Given the description of an element on the screen output the (x, y) to click on. 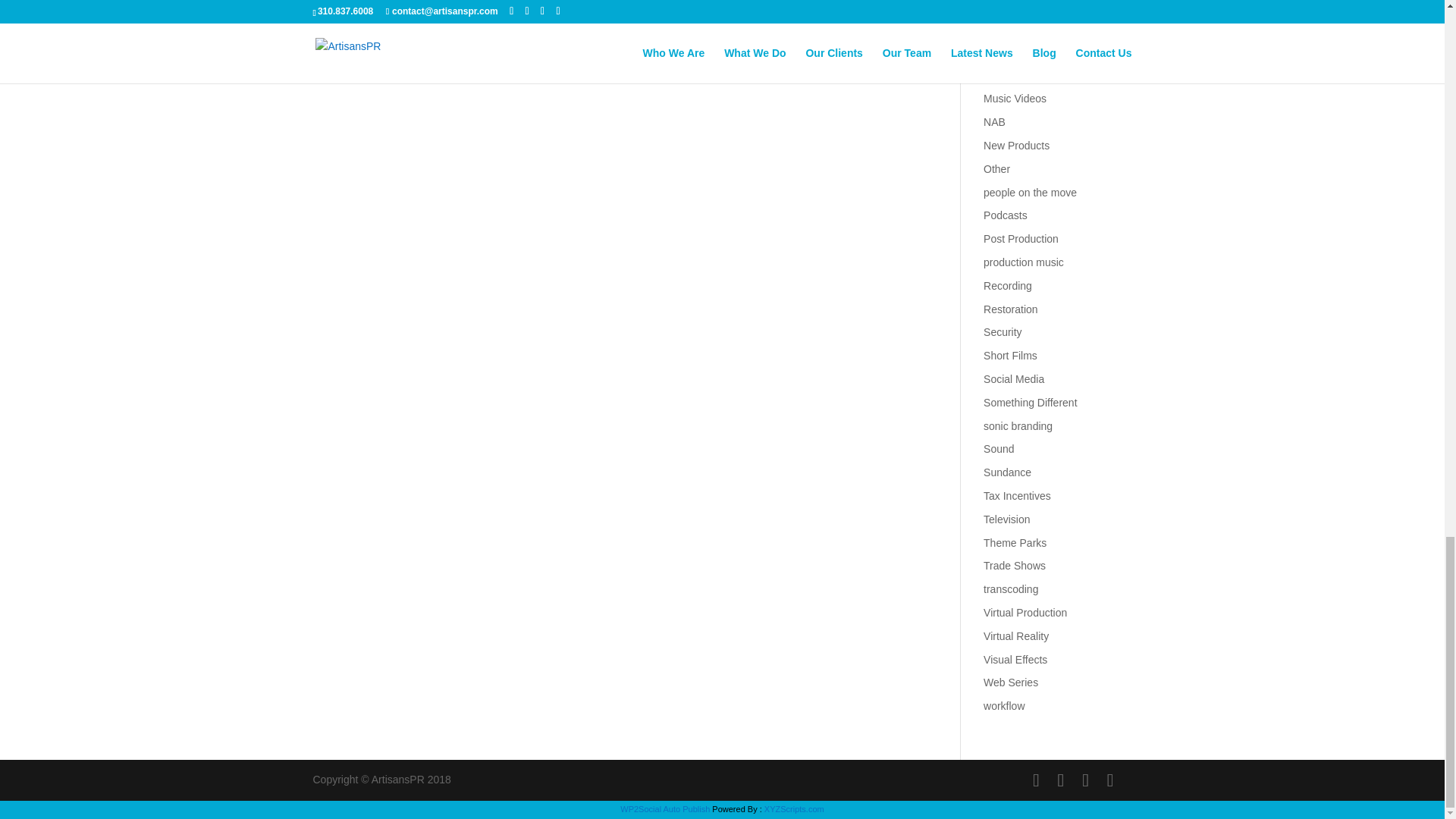
WP2Social Auto Publish (665, 809)
